Given the description of an element on the screen output the (x, y) to click on. 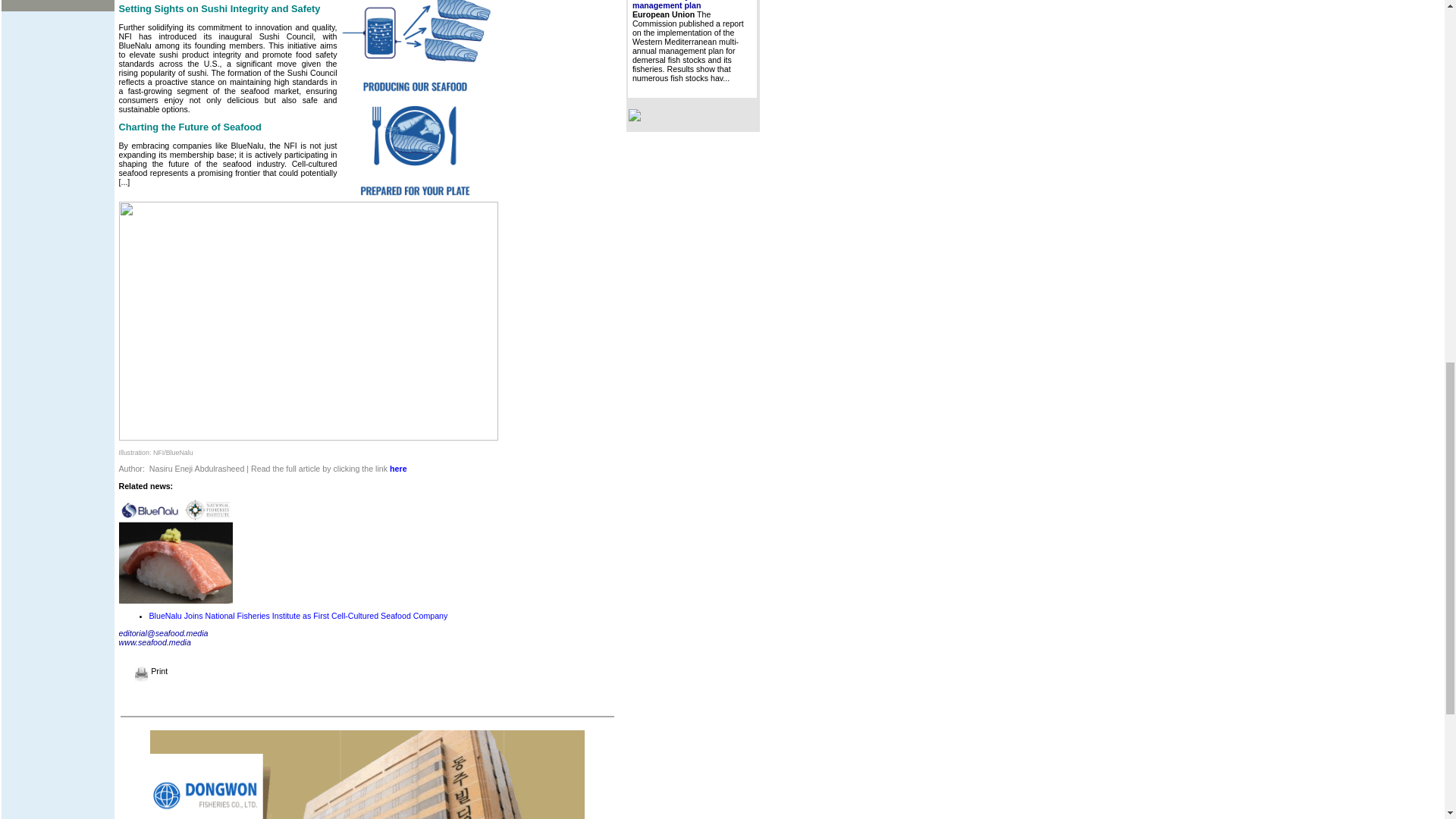
www.seafood.media (153, 642)
 Print (151, 670)
here (398, 468)
